Given the description of an element on the screen output the (x, y) to click on. 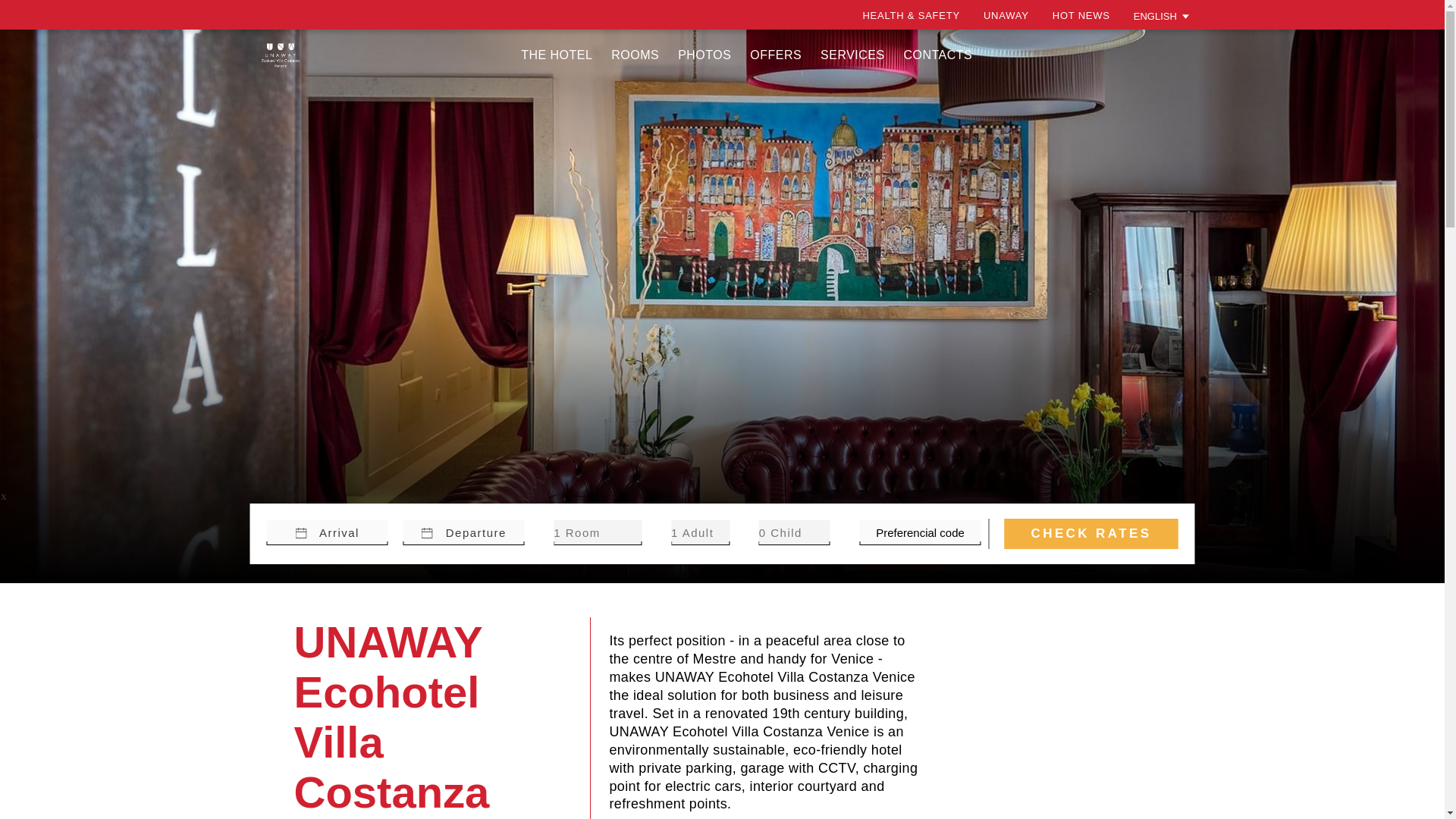
PHOTOS (704, 54)
UNAWAY (1006, 15)
CHECK RATES (1090, 533)
SERVICES (852, 54)
OFFERS (775, 54)
ENGLISH (1161, 15)
HOT NEWS (1080, 15)
ROOMS (635, 54)
CONTACTS (938, 54)
THE HOTEL (556, 54)
